Given the description of an element on the screen output the (x, y) to click on. 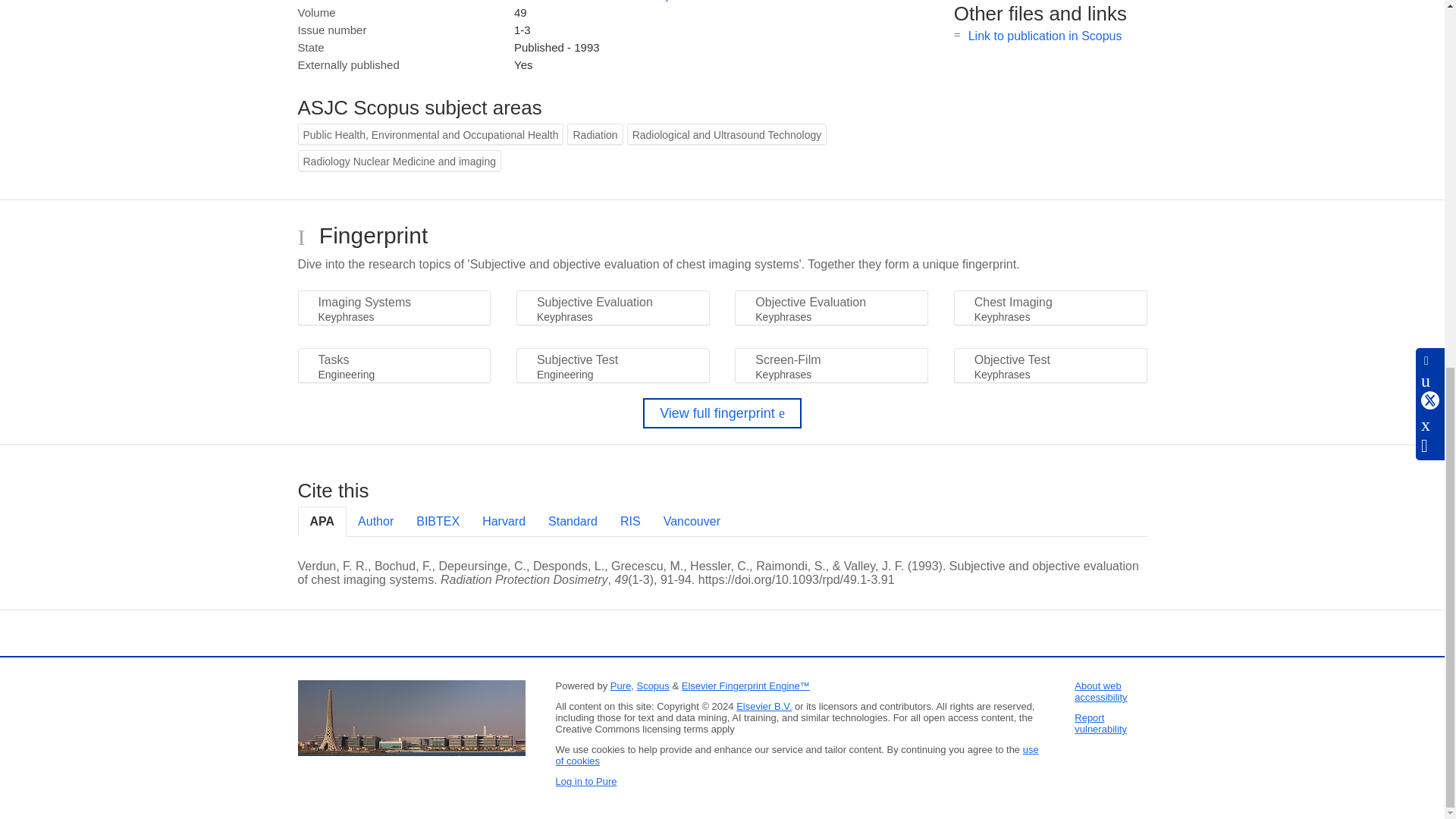
Pure (620, 685)
Link to publication in Scopus (1045, 35)
Scopus (652, 685)
View full fingerprint (722, 413)
